Given the description of an element on the screen output the (x, y) to click on. 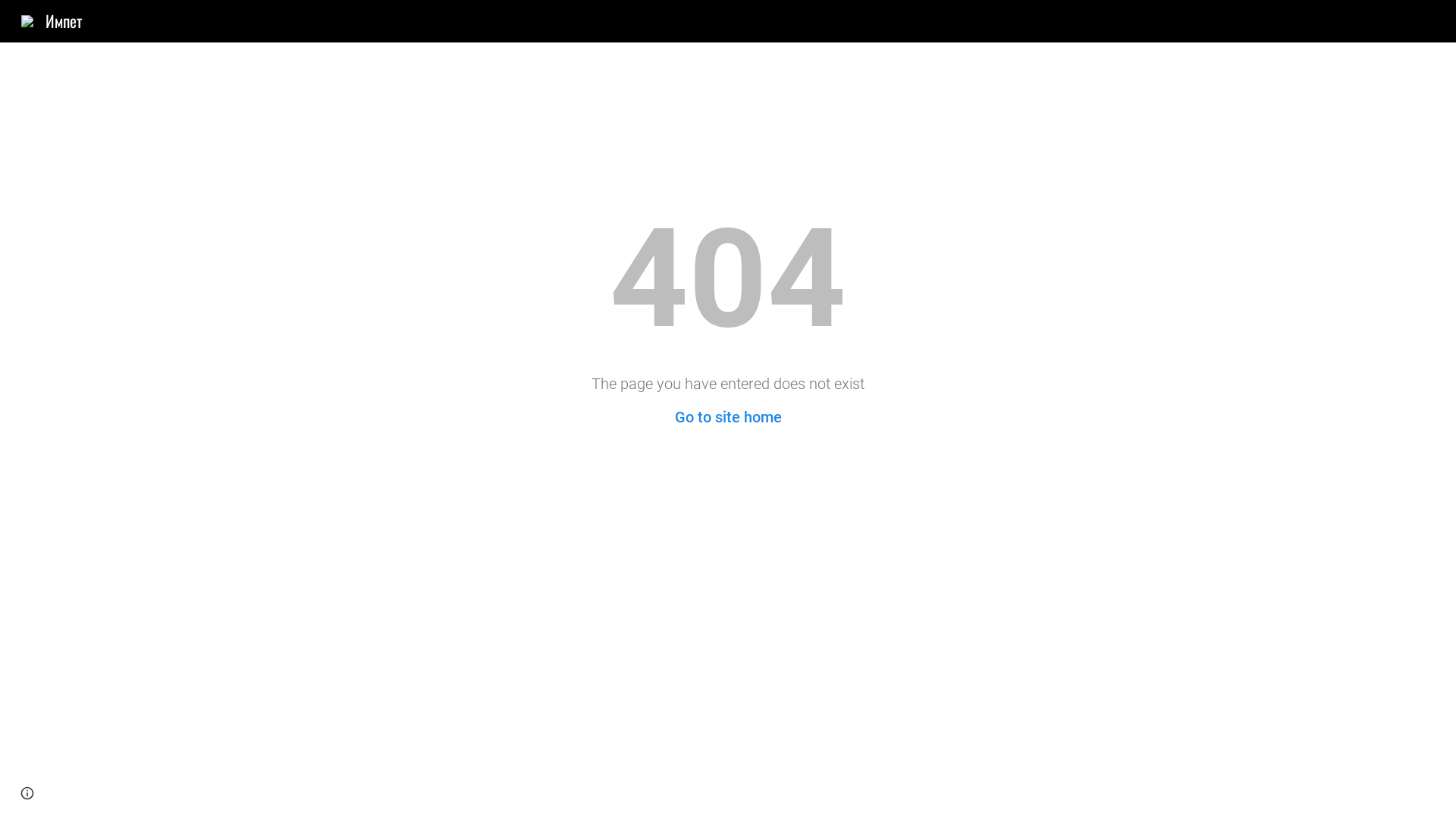
Go to site home Element type: text (727, 416)
